Given the description of an element on the screen output the (x, y) to click on. 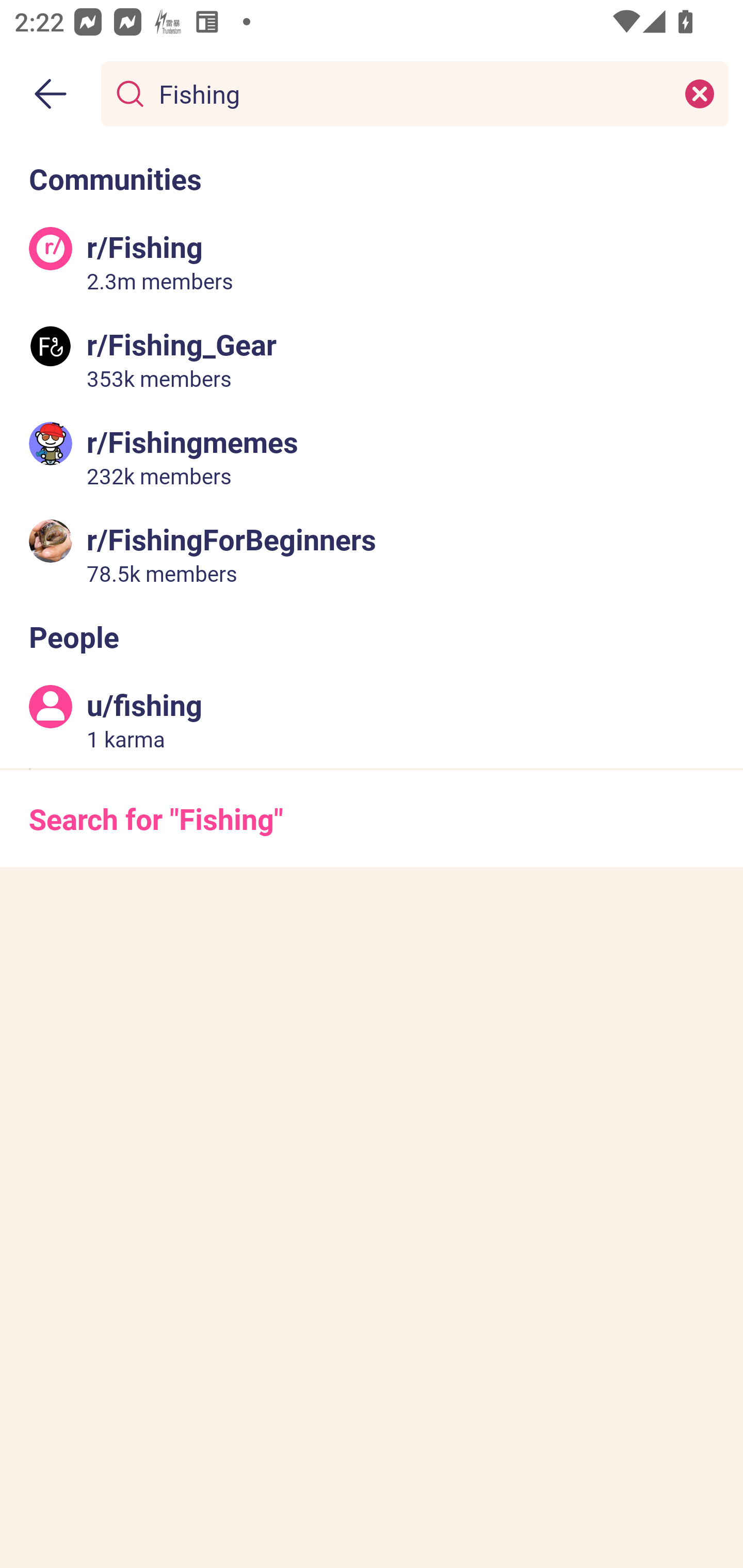
Back (50, 93)
Fishing (410, 93)
Clear search (699, 93)
r/Fishing 2.3m members 2.3 million members (371, 261)
r/Fishing_Gear 353k members 353 thousand members (371, 358)
r/Fishingmemes 232k members 232 thousand members (371, 455)
u/fishing 1 karma 1 karma (371, 719)
Search for "Fishing" (371, 818)
